Given the description of an element on the screen output the (x, y) to click on. 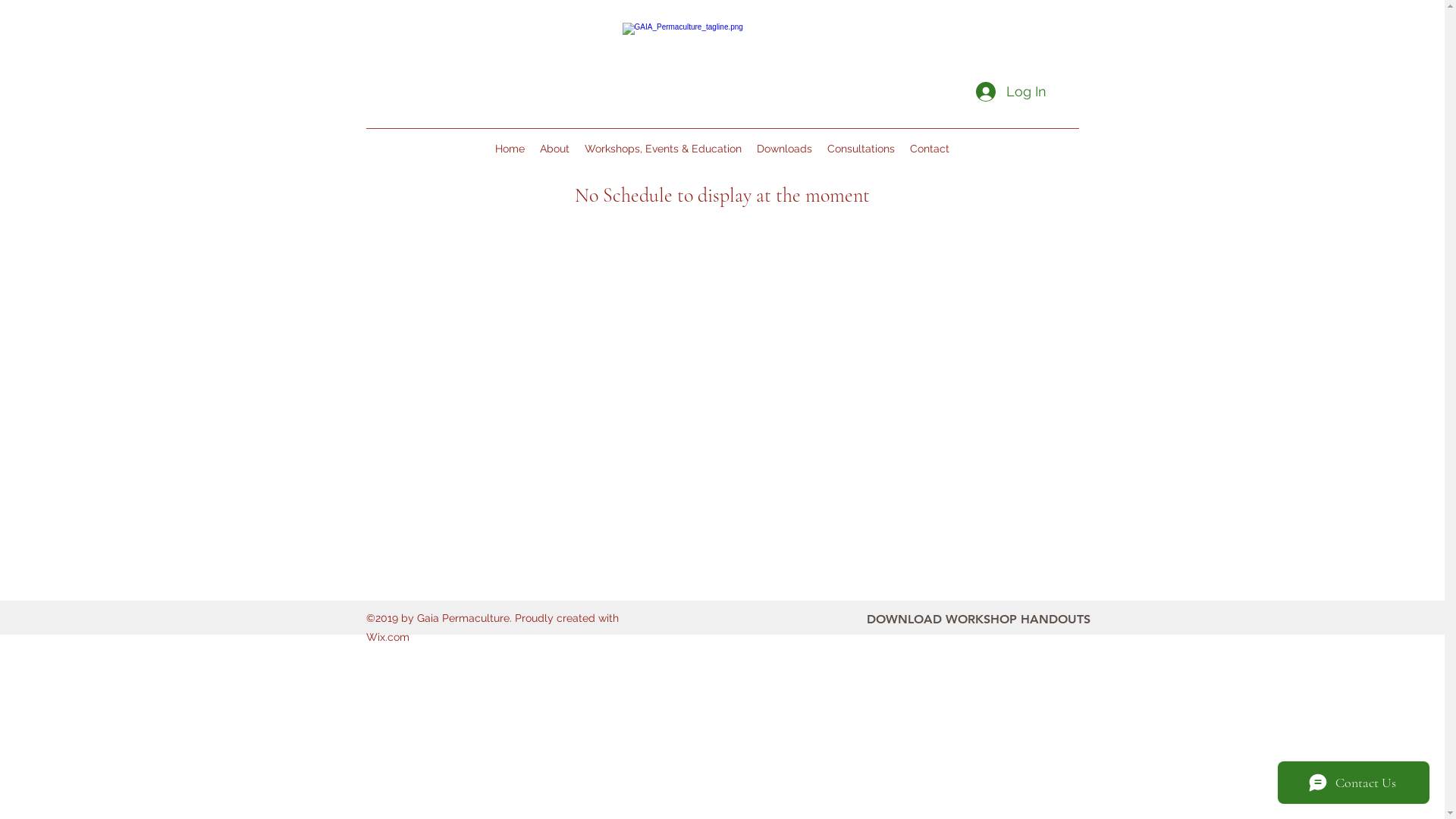
About Element type: text (554, 148)
Contact Element type: text (929, 148)
DOWNLOAD WORKSHOP HANDOUTS Element type: text (977, 619)
Home Element type: text (509, 148)
Workshops, Events & Education Element type: text (663, 148)
Downloads Element type: text (784, 148)
Consultations Element type: text (860, 148)
Log In Element type: text (1009, 91)
